Given the description of an element on the screen output the (x, y) to click on. 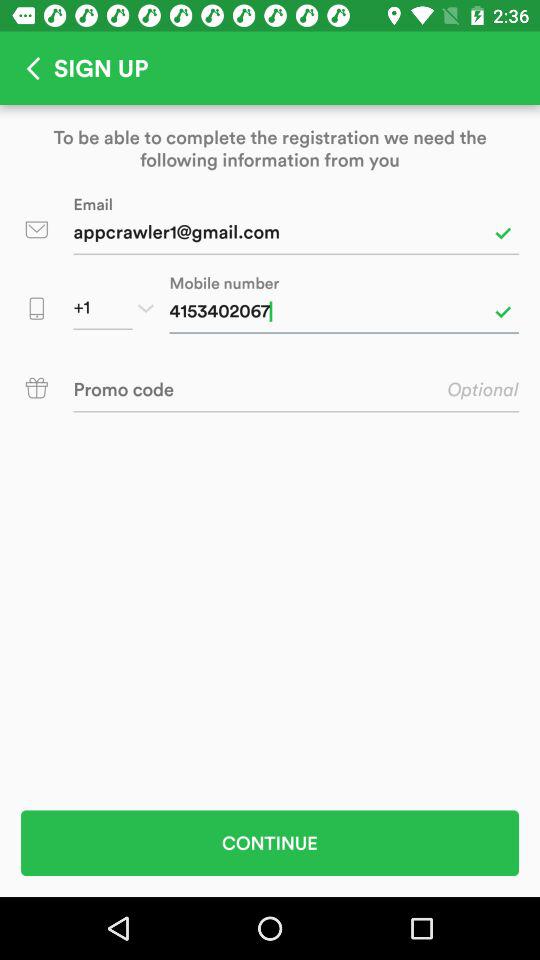
go back (27, 68)
